Given the description of an element on the screen output the (x, y) to click on. 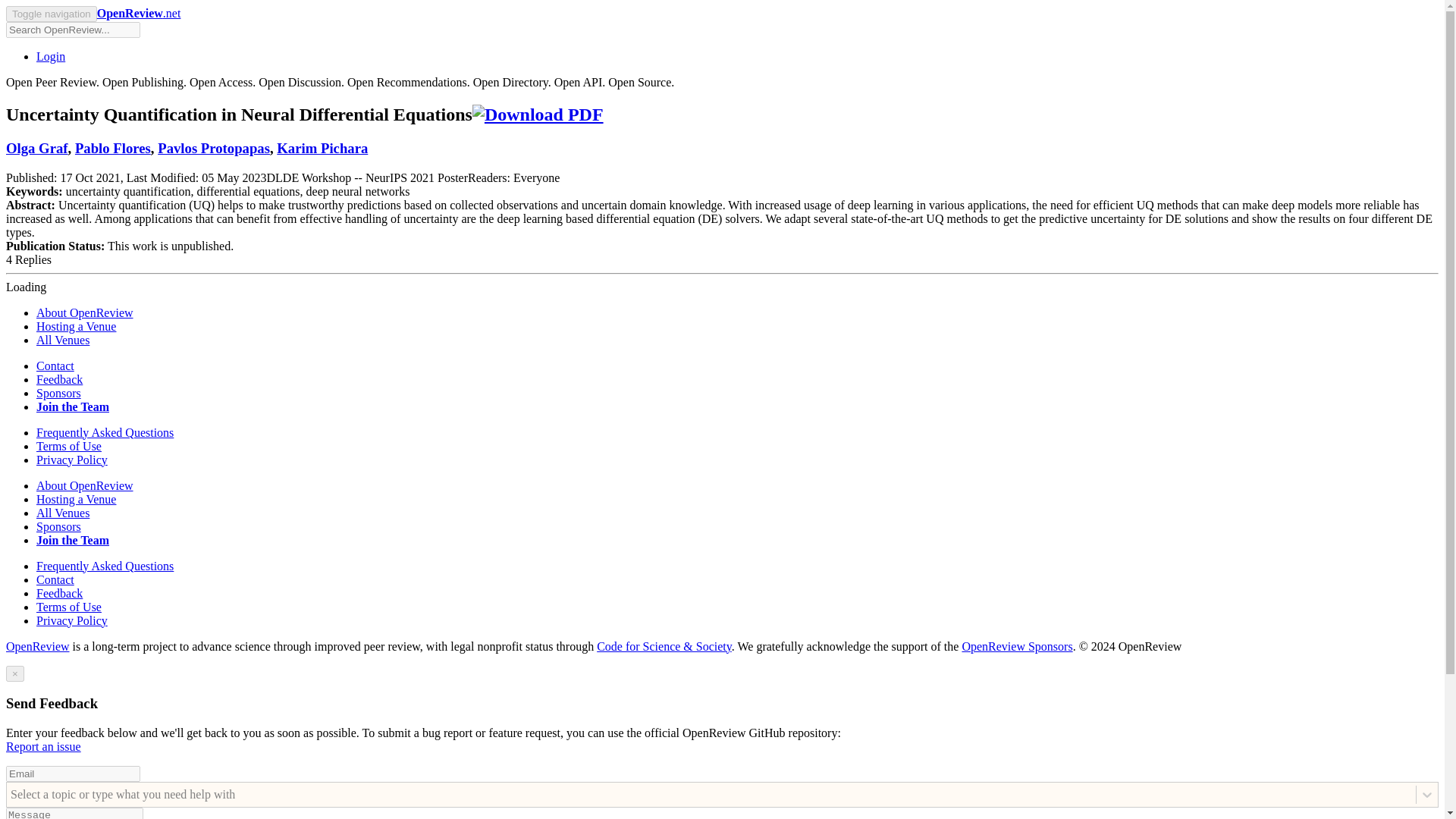
Terms of Use (68, 606)
Sponsors (58, 526)
Terms of Use (68, 445)
Privacy Policy (71, 620)
Hosting a Venue (76, 499)
Contact (55, 365)
Pablo Flores (113, 148)
OpenReview (37, 645)
Frequently Asked Questions (104, 431)
Contact (55, 579)
